Given the description of an element on the screen output the (x, y) to click on. 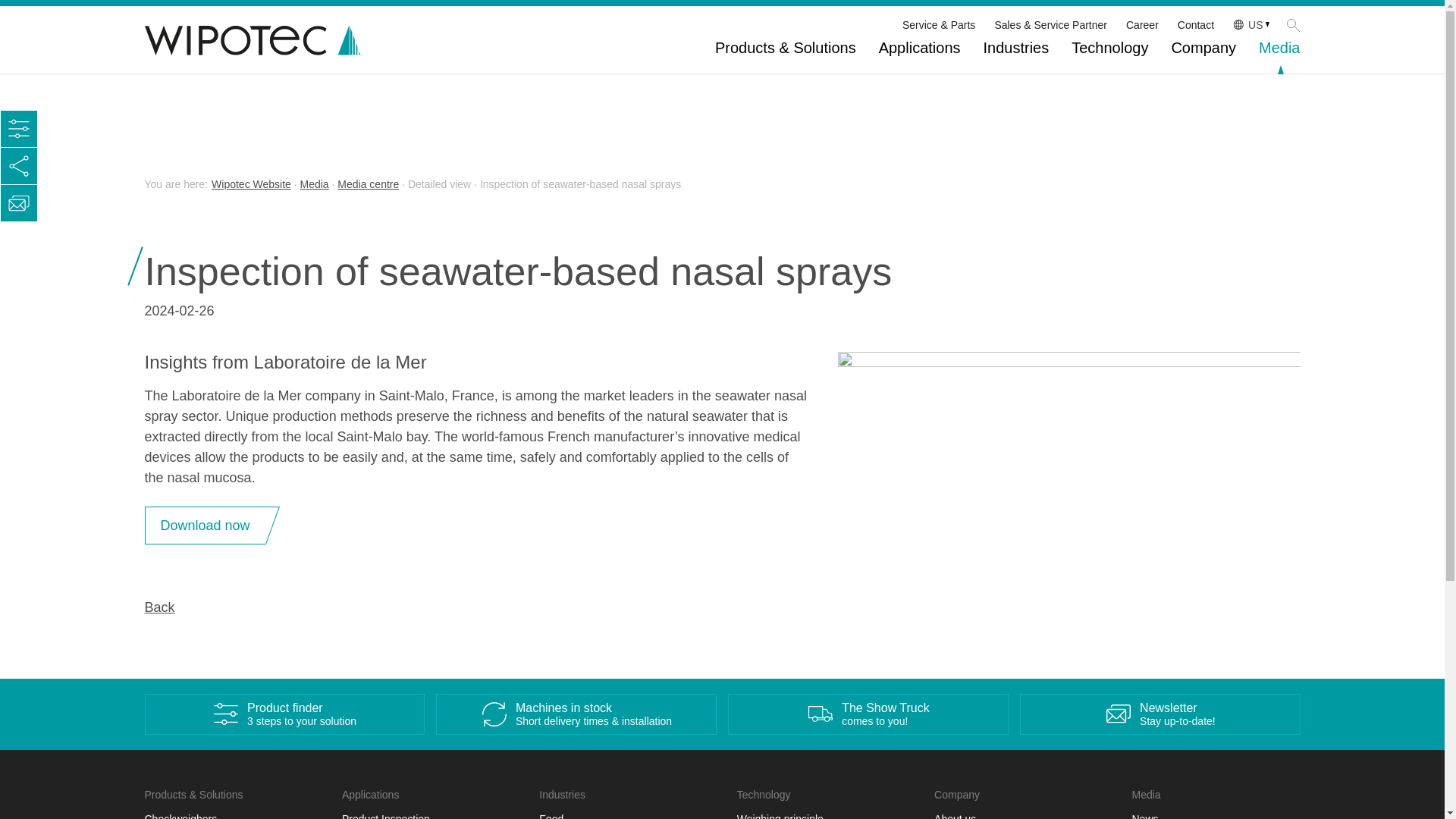
Media centre (367, 184)
Wipotec Website (251, 184)
Career (1141, 24)
Contact (1195, 24)
Career (1141, 24)
Contact (1195, 24)
Media (314, 184)
We foster partnerships from pre to after sales (1050, 24)
